Given the description of an element on the screen output the (x, y) to click on. 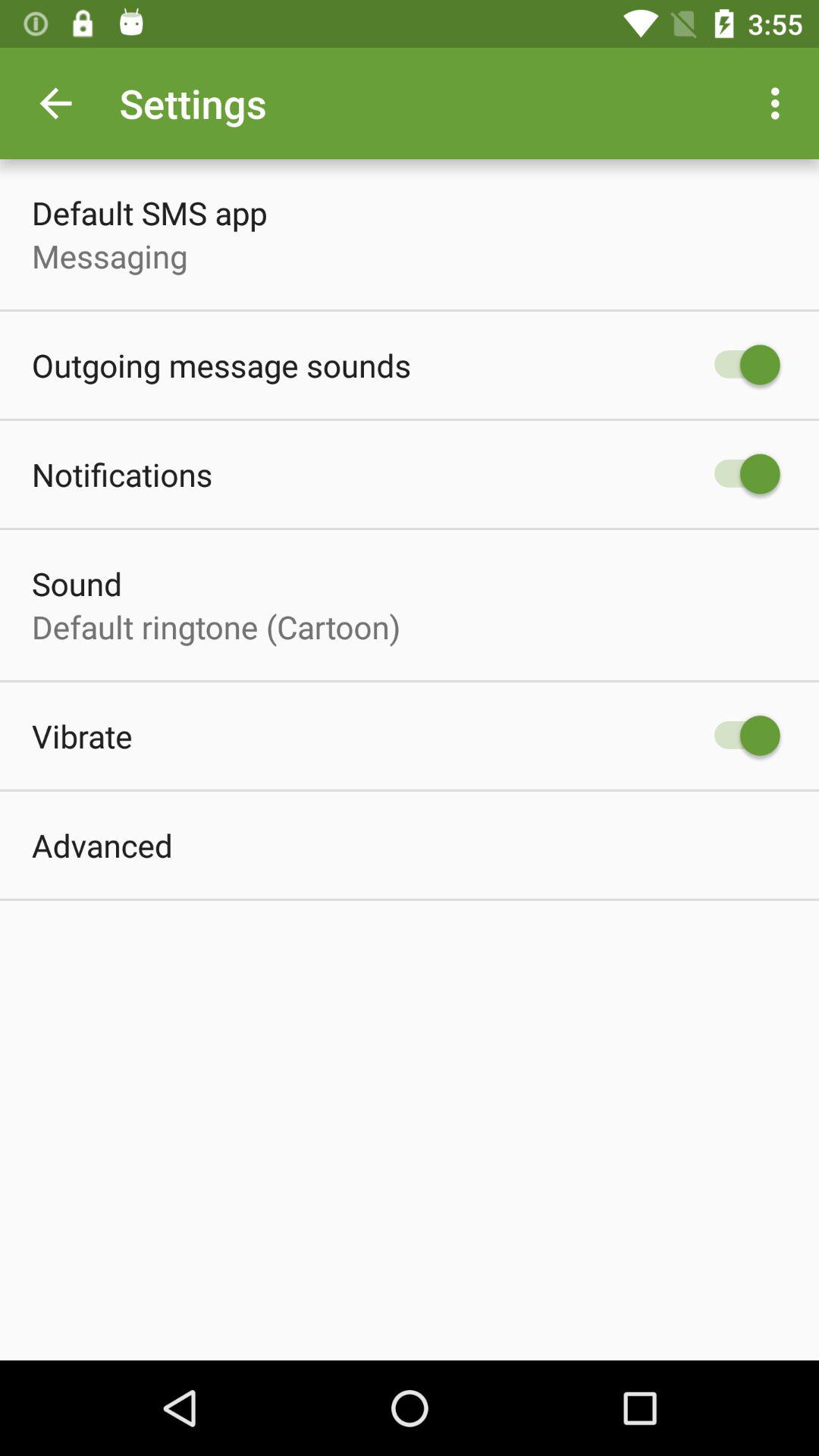
press the vibrate icon (81, 735)
